Given the description of an element on the screen output the (x, y) to click on. 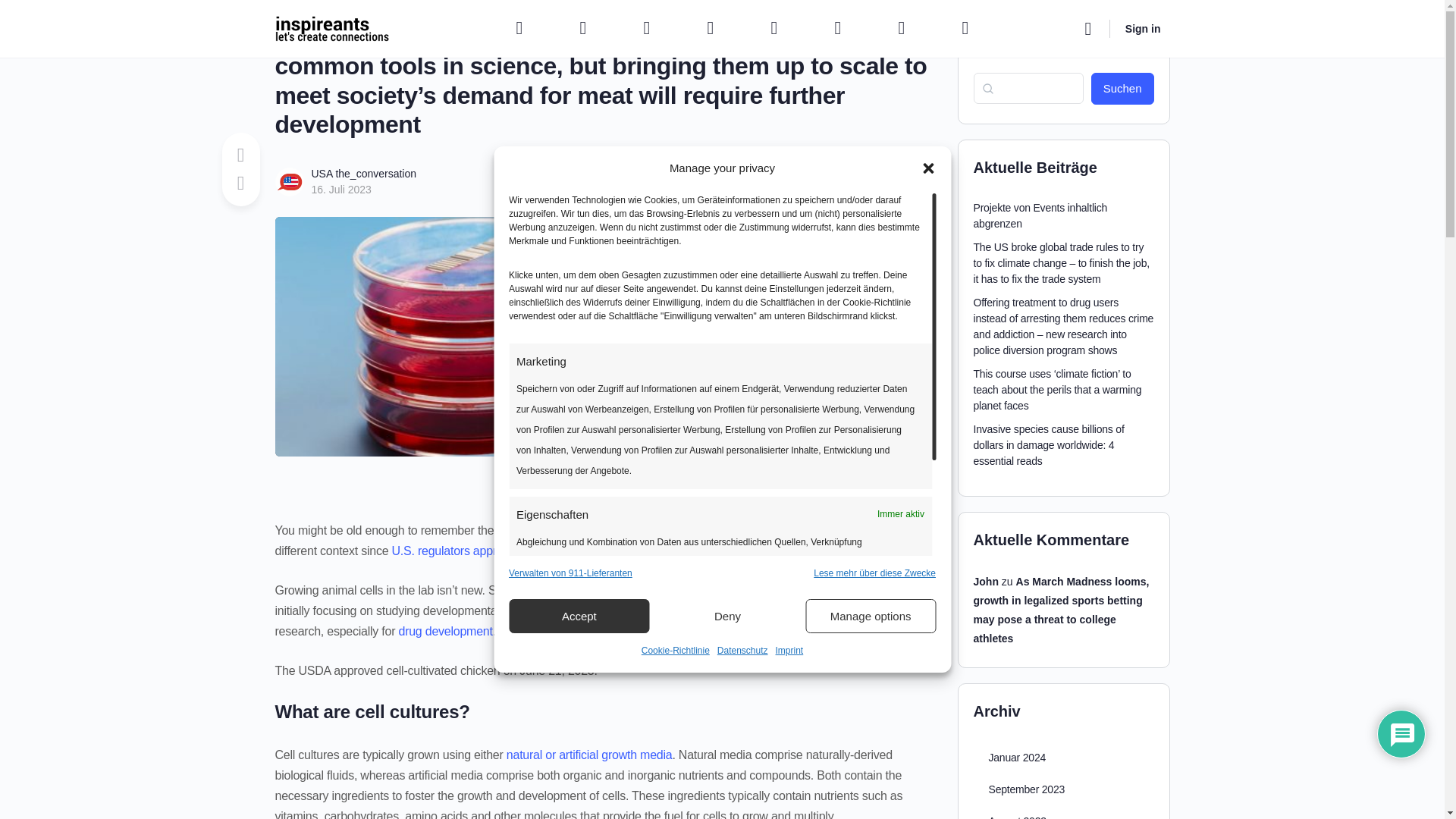
Sign in (1143, 28)
Accept (578, 615)
Manage options (870, 615)
Imprint (789, 650)
Verwalten von 911-Lieferanten (569, 573)
Datenschutz (742, 650)
Deny (727, 615)
Cookie-Richtlinie (676, 650)
